Given the description of an element on the screen output the (x, y) to click on. 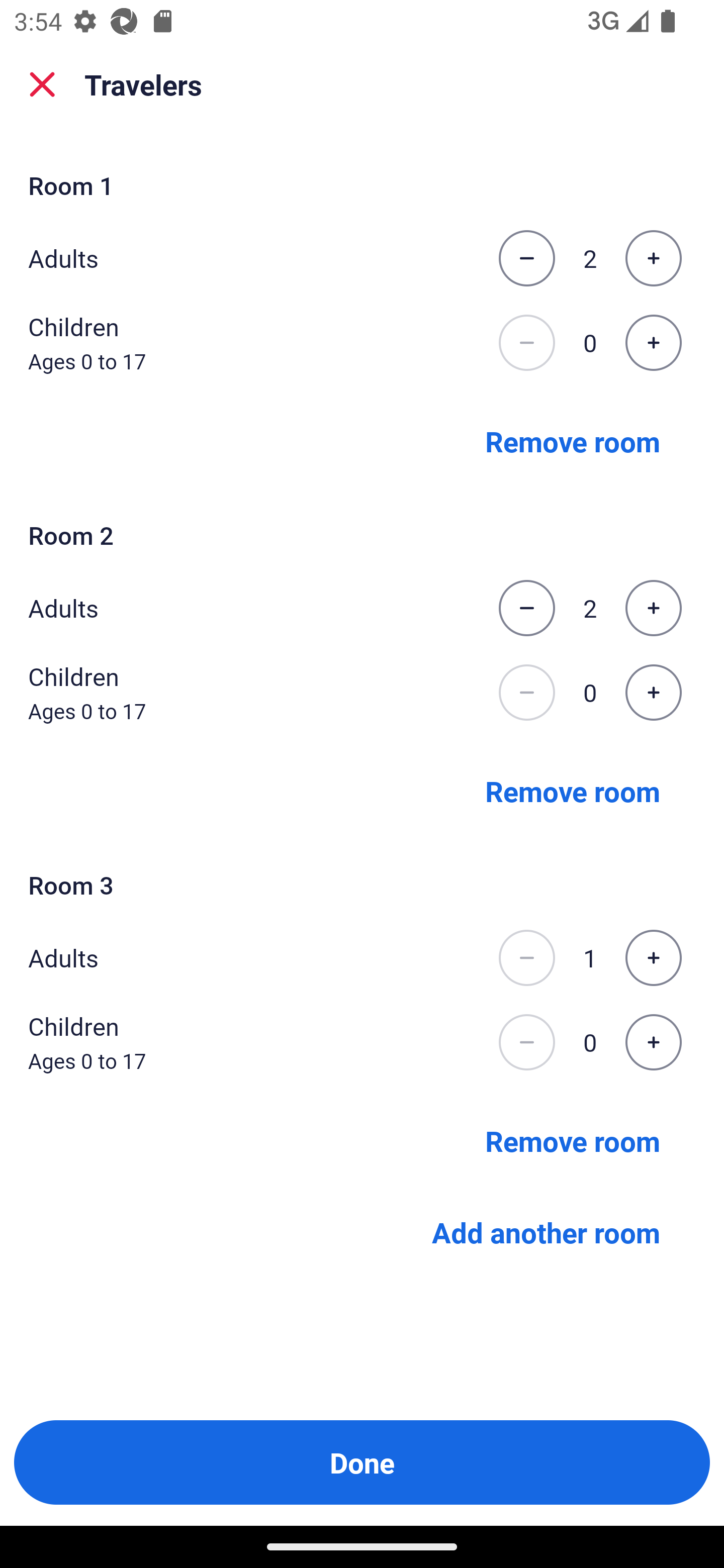
close (42, 84)
Decrease the number of adults (526, 258)
Increase the number of adults (653, 258)
Decrease the number of children (526, 343)
Increase the number of children (653, 343)
Remove room (572, 440)
Decrease the number of adults (526, 608)
Increase the number of adults (653, 608)
Decrease the number of children (526, 692)
Increase the number of children (653, 692)
Remove room (572, 790)
Decrease the number of adults (526, 957)
Increase the number of adults (653, 957)
Decrease the number of children (526, 1042)
Increase the number of children (653, 1042)
Remove room (572, 1140)
Add another room (545, 1232)
Done (361, 1462)
